Given the description of an element on the screen output the (x, y) to click on. 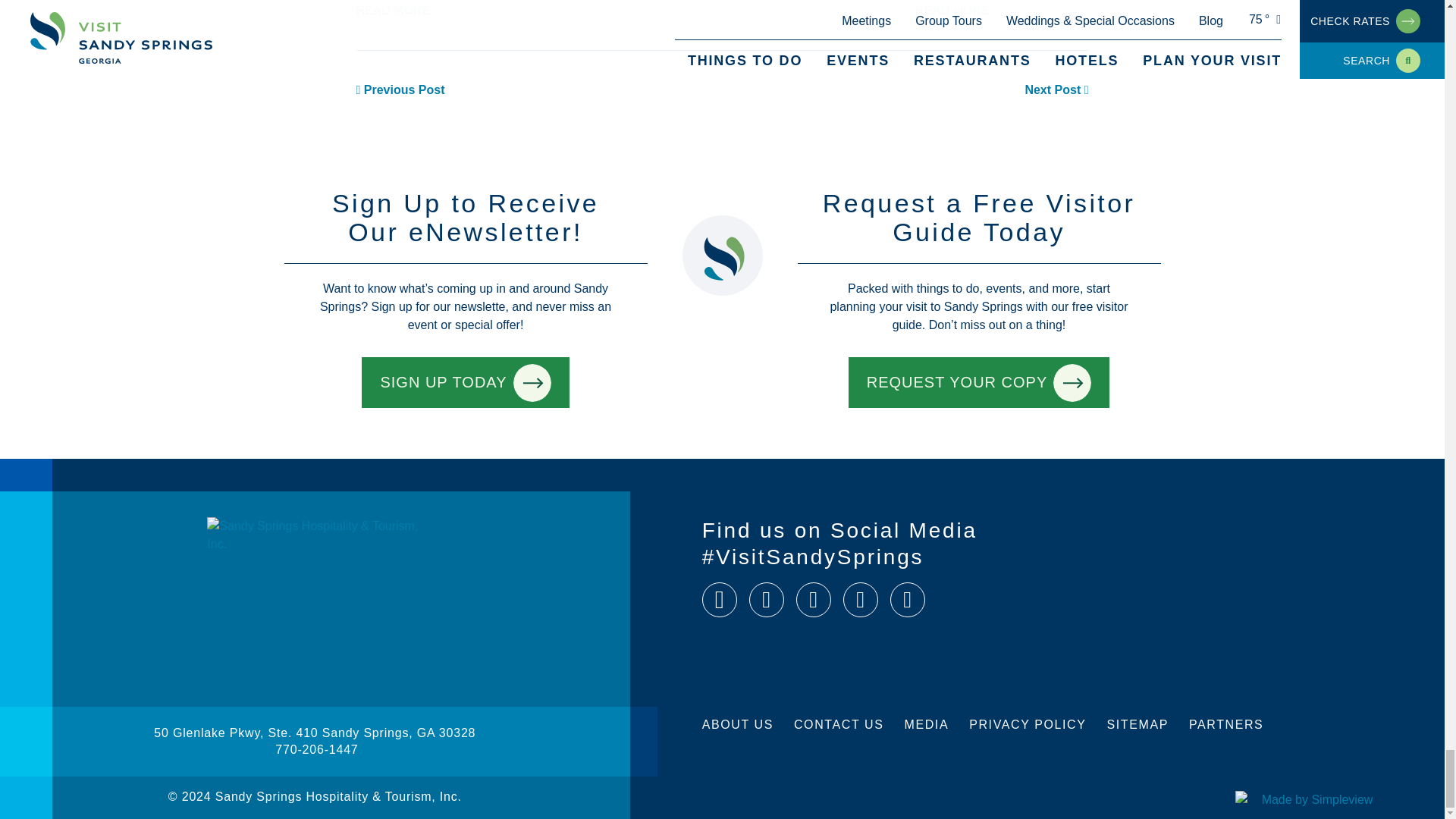
Visit our Youtube page (906, 599)
Visit our Instagram page (766, 599)
About Us (737, 724)
Contact Us (838, 724)
Partners (1226, 724)
Media (926, 724)
Sitemap (1136, 724)
Visit our Facebook page (718, 599)
St. Patrick's Day Festivities in Sandy Springs (1056, 90)
Visit our Twitter page (813, 599)
Visit our Pinterest page (860, 599)
Privacy Policy (1027, 724)
Where to Watch Sports in Sandy Springs (400, 90)
